Given the description of an element on the screen output the (x, y) to click on. 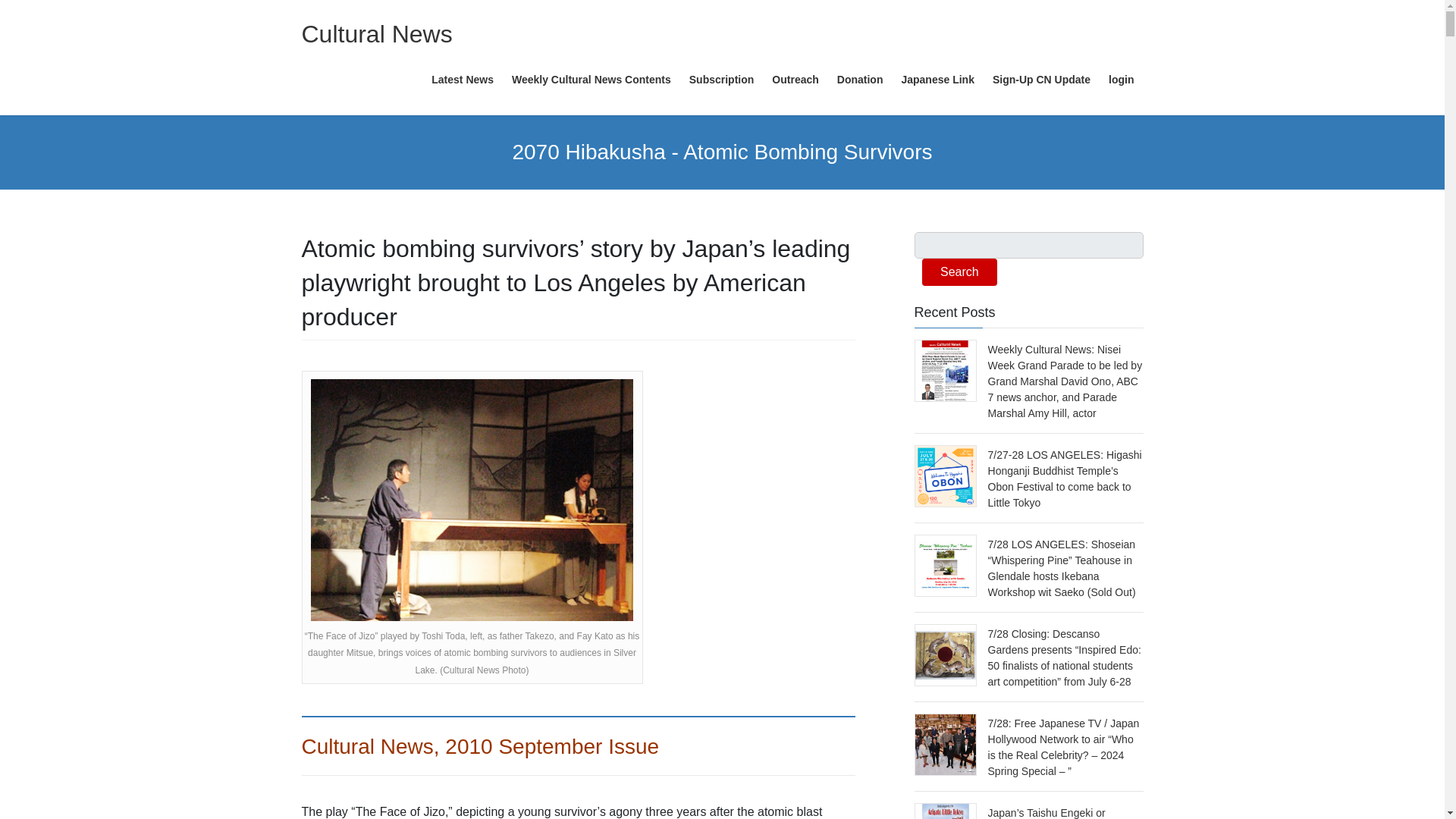
Cultural News (376, 33)
Search (959, 271)
Sign-Up CN Update (1041, 80)
login (1120, 80)
Outreach (794, 80)
Japanese Link (937, 80)
Donation (860, 80)
Latest News (462, 80)
Weekly Cultural News Contents (590, 80)
Subscription (720, 80)
